Given the description of an element on the screen output the (x, y) to click on. 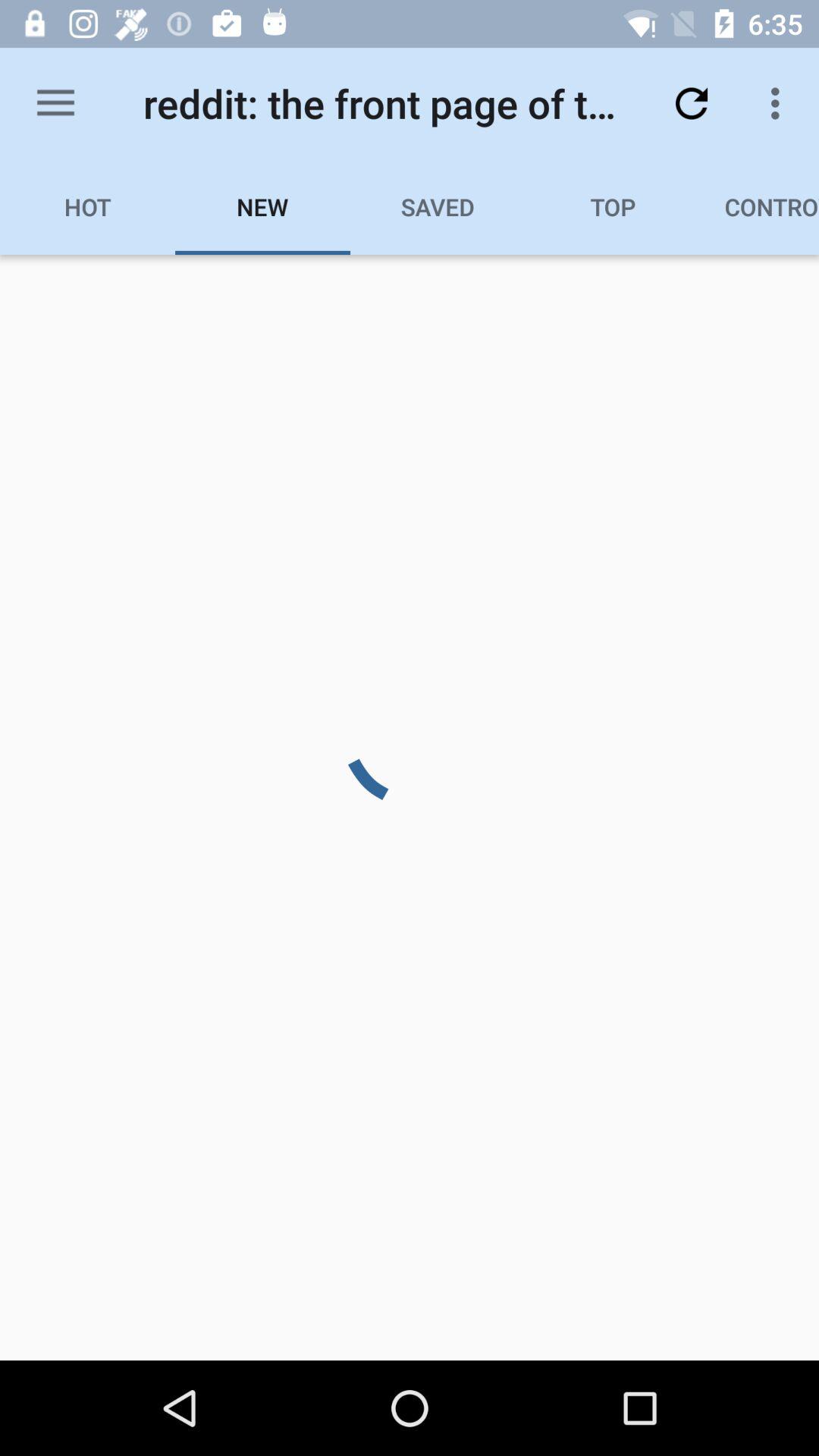
select the icon above top item (691, 103)
